Given the description of an element on the screen output the (x, y) to click on. 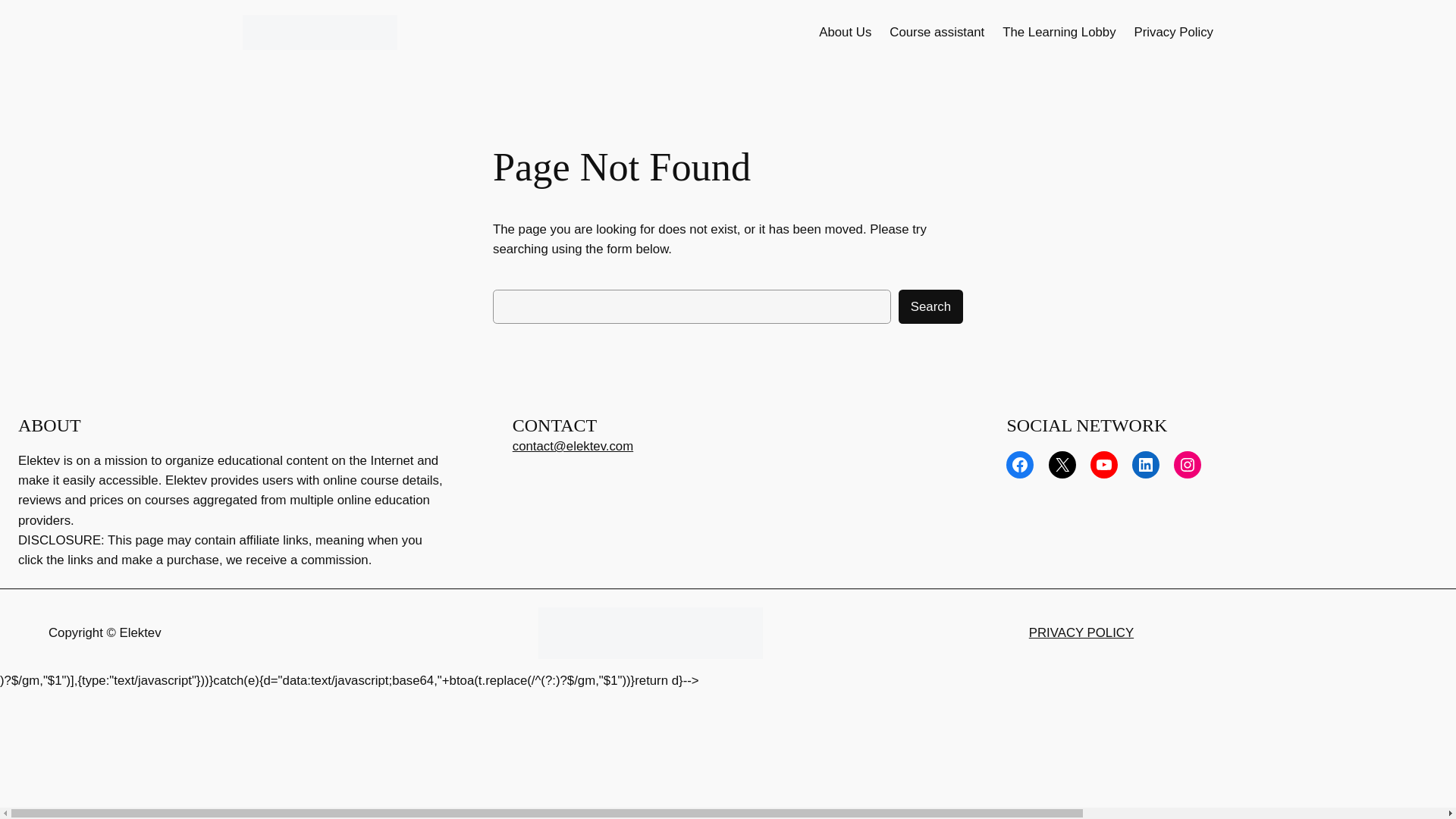
The Learning Lobby (1059, 32)
Course assistant (936, 32)
LinkedIn (1145, 464)
YouTube (1104, 464)
Instagram (1187, 464)
Search (930, 306)
PRIVACY POLICY (1081, 632)
X (1061, 464)
Facebook (1019, 464)
Privacy Policy (1173, 32)
